Given the description of an element on the screen output the (x, y) to click on. 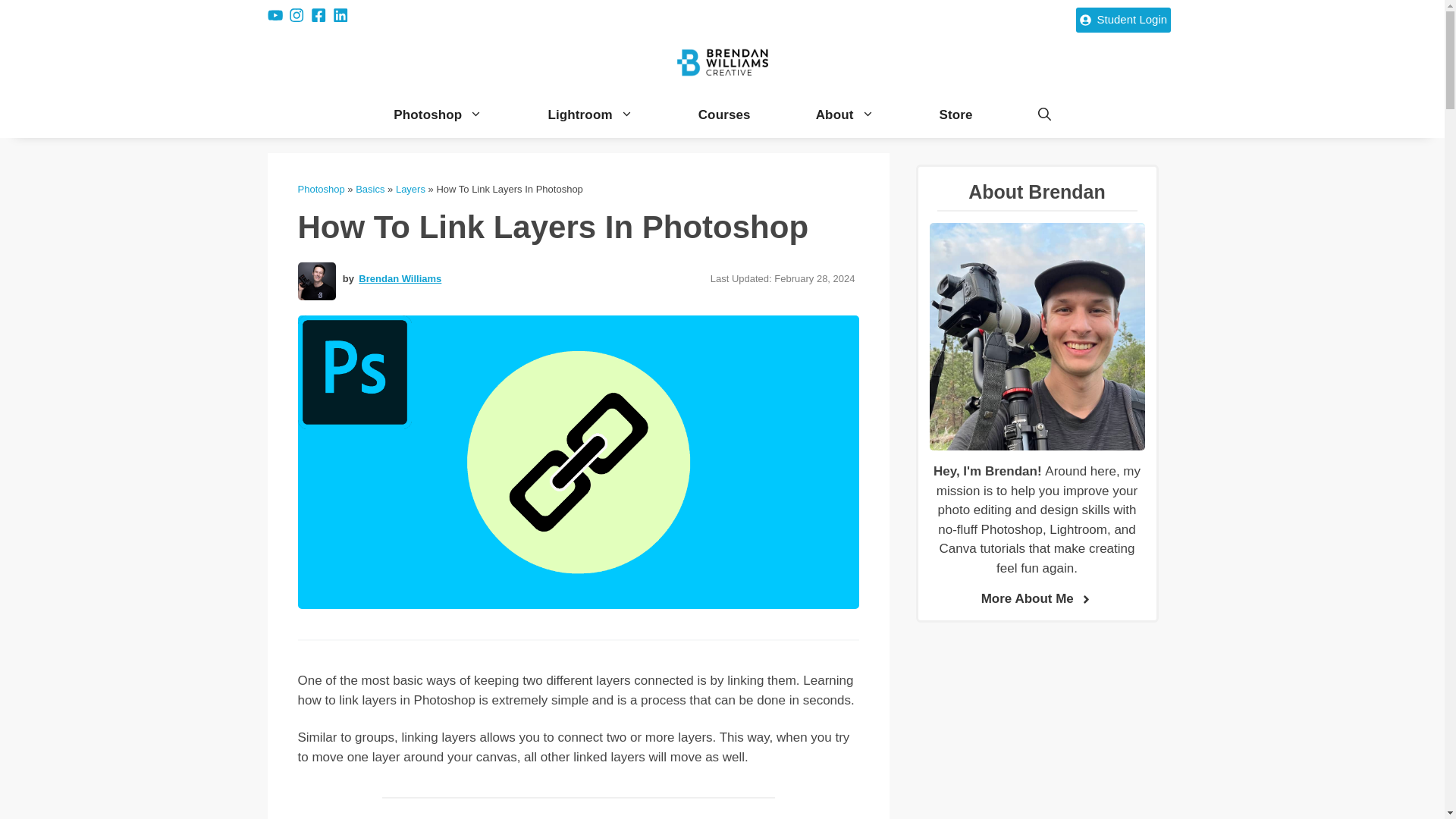
Photoshop (438, 115)
Bwillcreative-Headshot-Lowres-3355 (315, 281)
Brendan Williams (399, 278)
Courses (724, 115)
Lightroom (590, 115)
About (845, 115)
Basics (369, 188)
Layers (410, 188)
Photoshop (320, 188)
Store (956, 115)
Student Login (1122, 19)
